Given the description of an element on the screen output the (x, y) to click on. 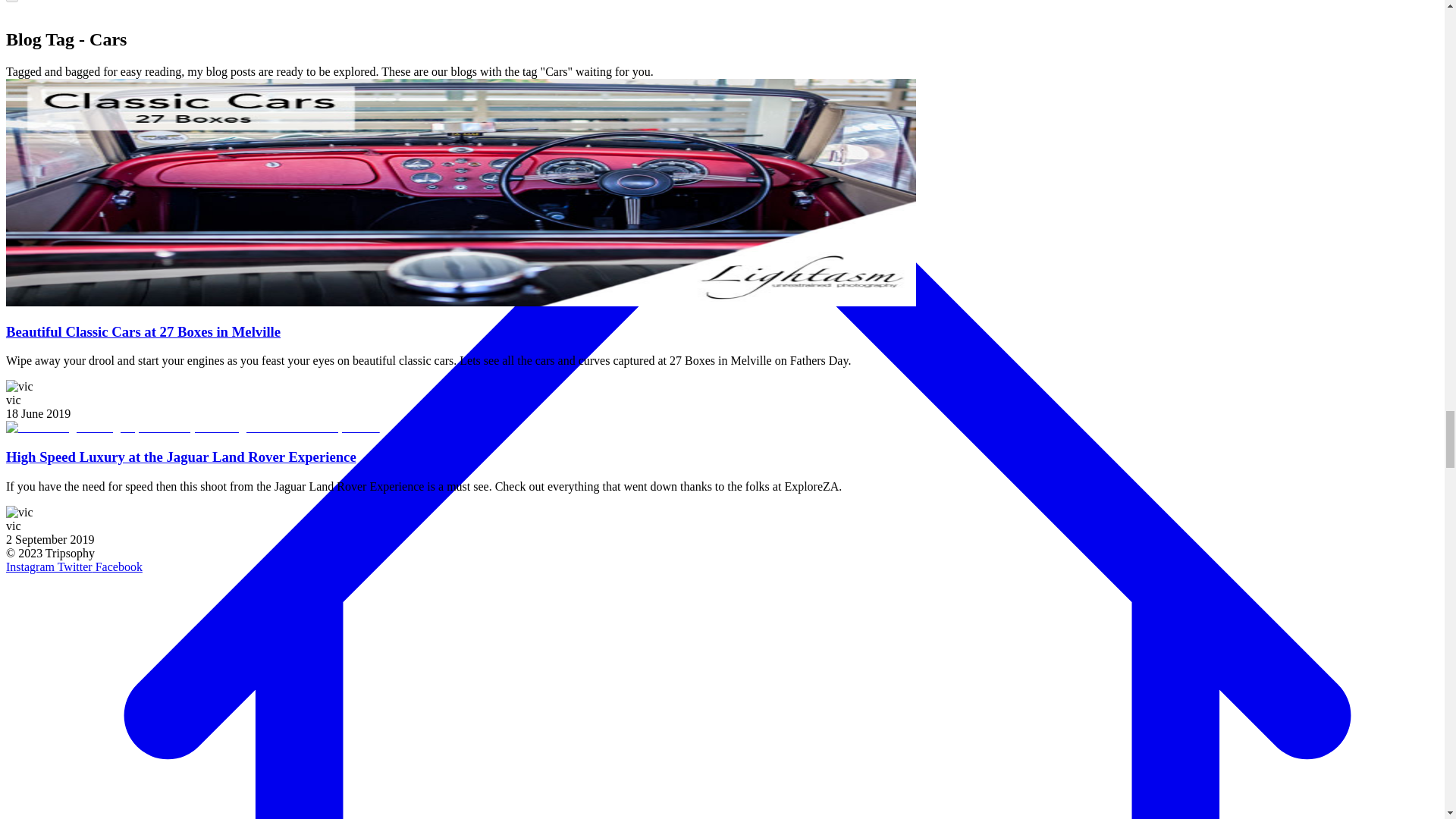
Twitter (74, 566)
Beautiful Classic Cars at 27 Boxes in Melville (143, 331)
Facebook (117, 566)
High Speed Luxury at the Jaguar Land Rover Experience (180, 456)
Instagram (30, 566)
